Given the description of an element on the screen output the (x, y) to click on. 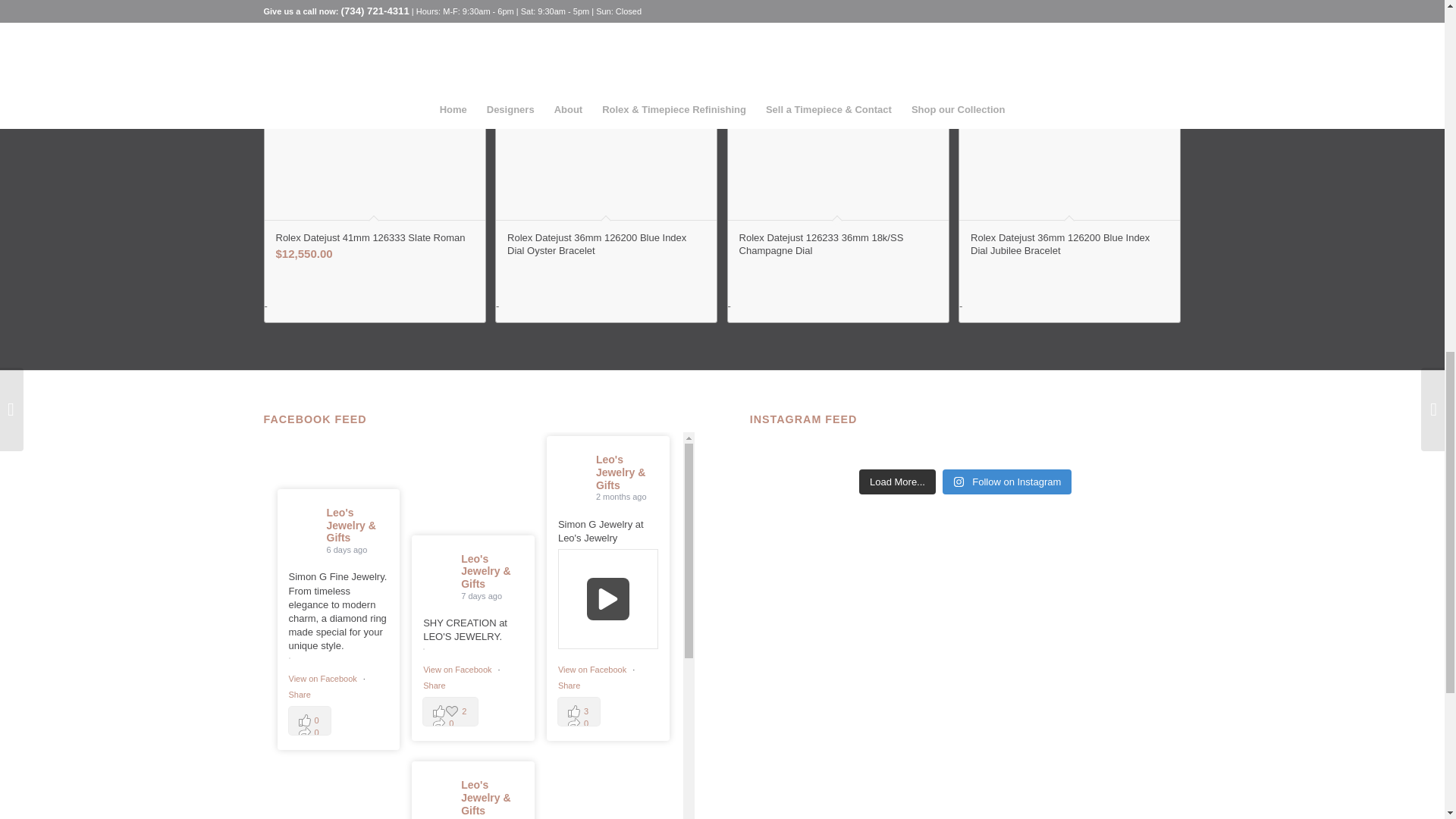
Share (299, 694)
View on Facebook (323, 678)
Share (568, 685)
View on Facebook (592, 669)
View on Facebook (458, 669)
Share (434, 685)
